Given the description of an element on the screen output the (x, y) to click on. 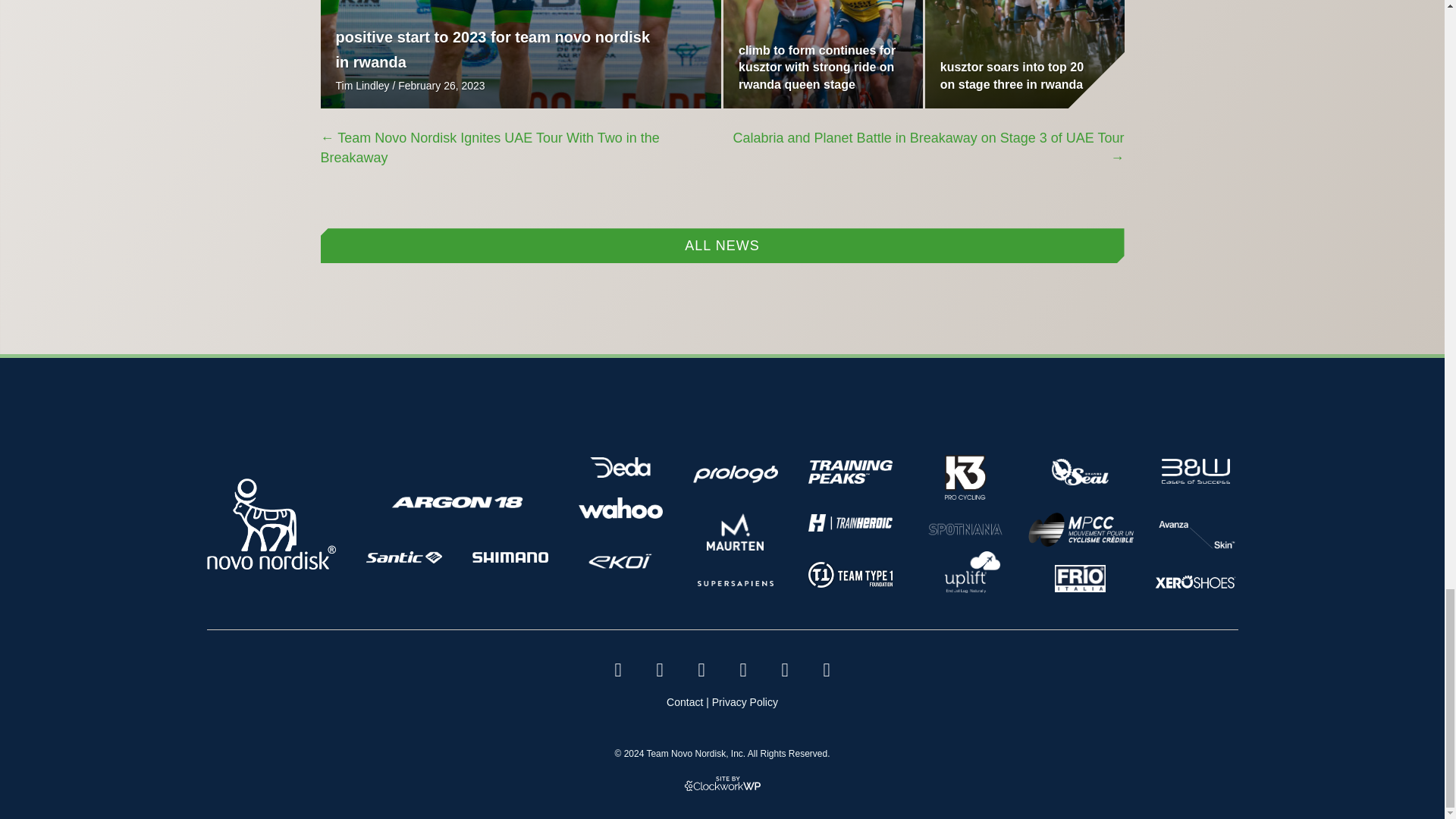
Tim Lindley (361, 85)
Positive start to 2023 for Team Novo Nordisk in Rwanda (491, 49)
positive start to 2023 for team novo nordisk in rwanda (491, 49)
